Given the description of an element on the screen output the (x, y) to click on. 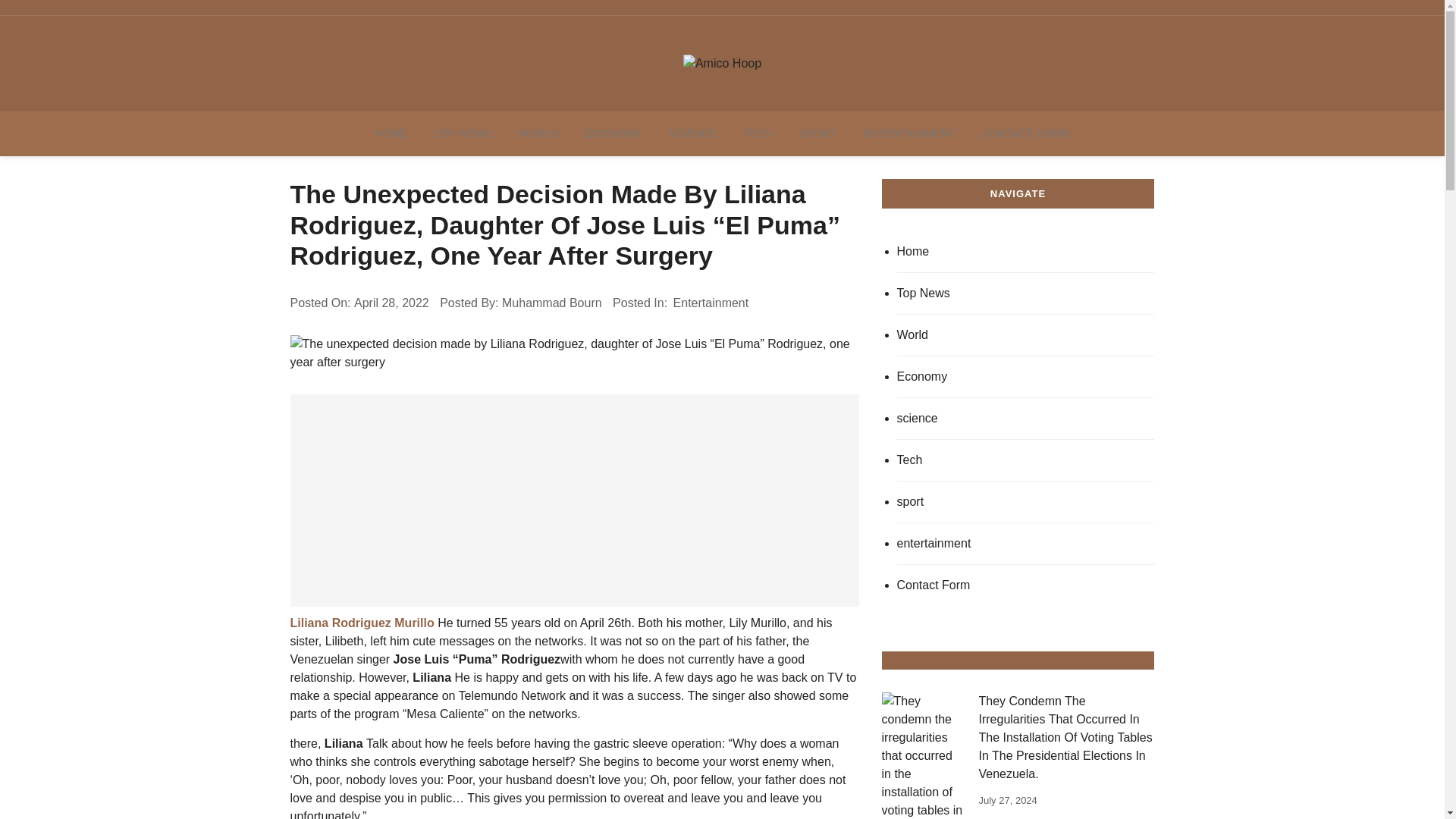
SPORT (817, 133)
ECONOMY (613, 133)
Home (1025, 251)
WORLD (538, 133)
Economy (1025, 377)
Muhammad Bourn (552, 303)
ENTERTAINMENT (908, 133)
CONTACT FORM (1026, 133)
Tech (1025, 460)
Top News (1025, 293)
HOME (390, 133)
Advertisement (574, 499)
Liliana Rodriguez Murillo (361, 622)
science (1025, 418)
Entertainment (711, 303)
